Given the description of an element on the screen output the (x, y) to click on. 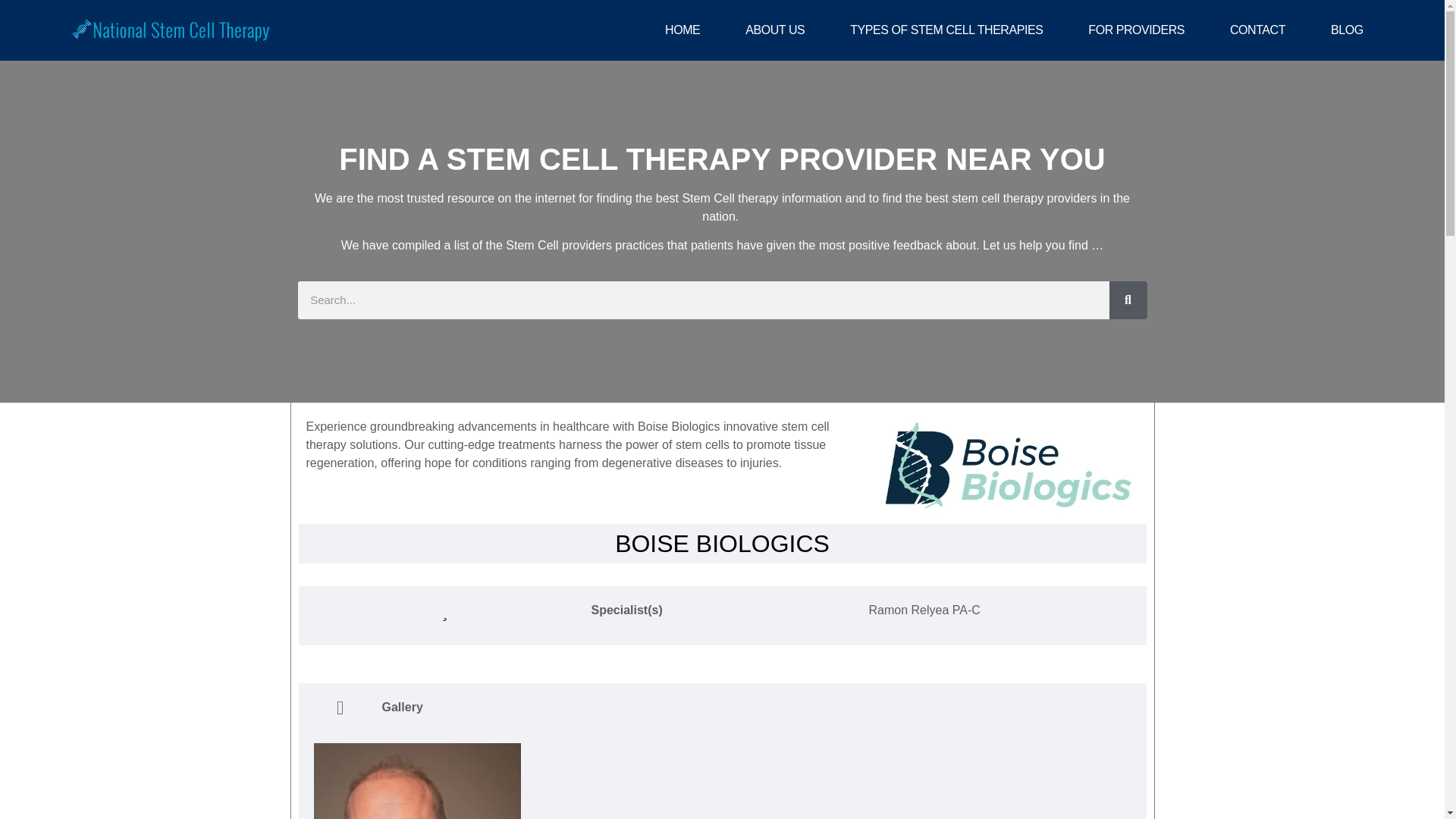
ABOUT US (775, 30)
CONTACT (1257, 30)
HOME (682, 30)
FOR PROVIDERS (1136, 30)
BLOG (1347, 30)
TYPES OF STEM CELL THERAPIES (946, 30)
